Given the description of an element on the screen output the (x, y) to click on. 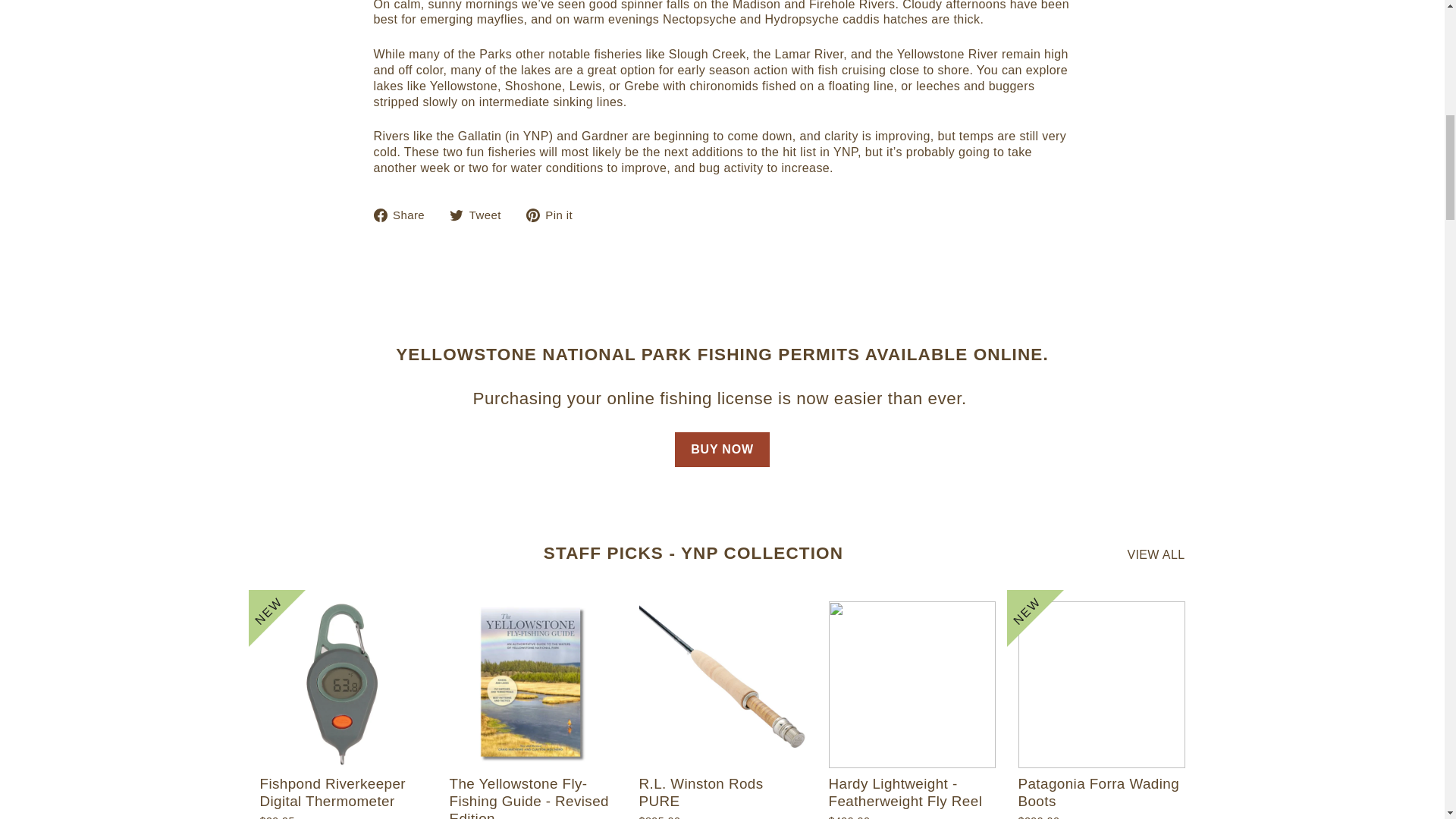
Share on Facebook (403, 214)
Pin on Pinterest (554, 214)
Tweet on Twitter (480, 214)
